Given the description of an element on the screen output the (x, y) to click on. 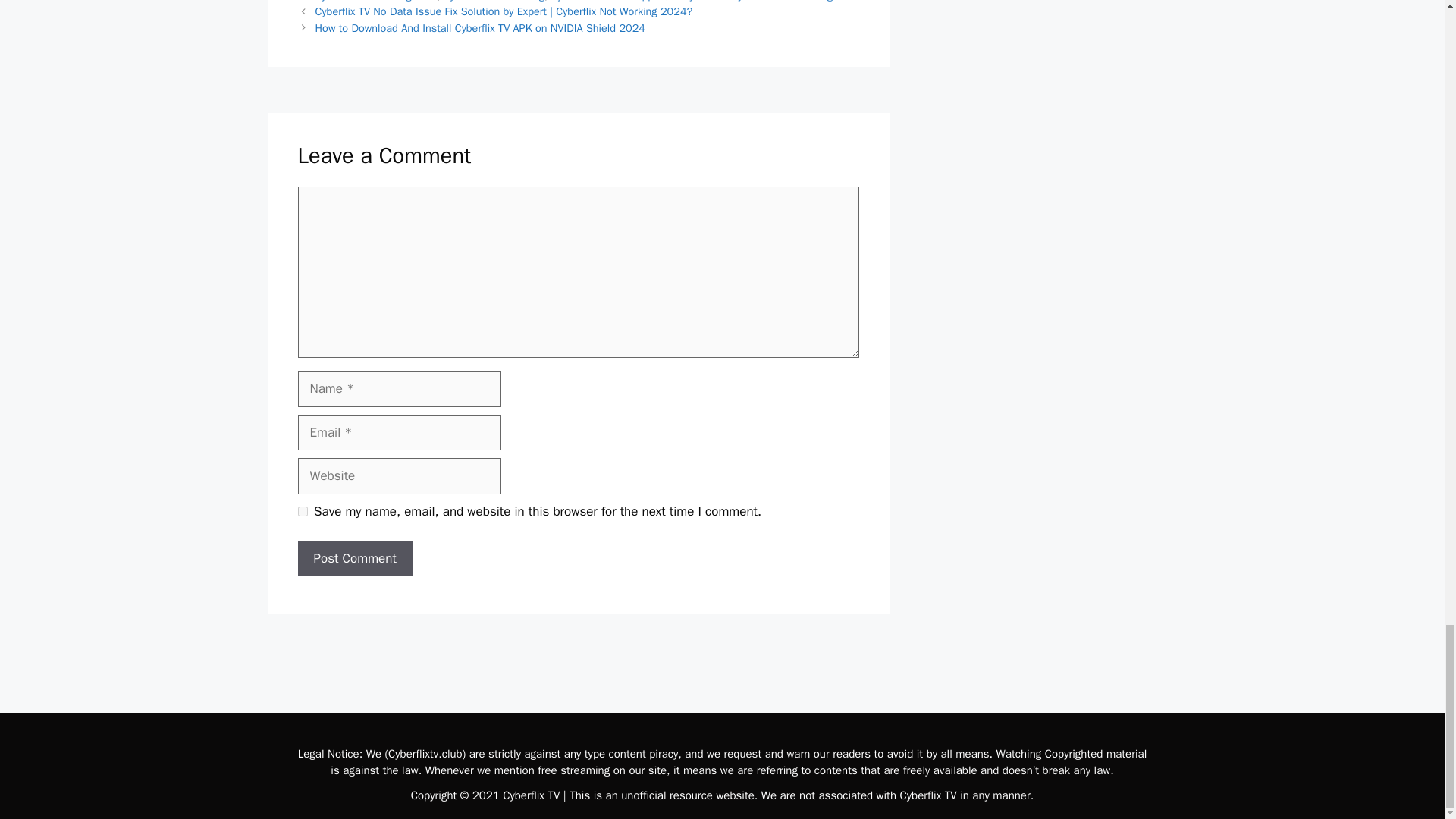
Post Comment (354, 557)
Easy Fix For Cyberflix Not Working (751, 1)
yes (302, 511)
Cyberflix not loading links (376, 1)
Cyberflix tv has stopped (608, 1)
Post Comment (354, 557)
Cyberflix Not Working (494, 1)
